Given the description of an element on the screen output the (x, y) to click on. 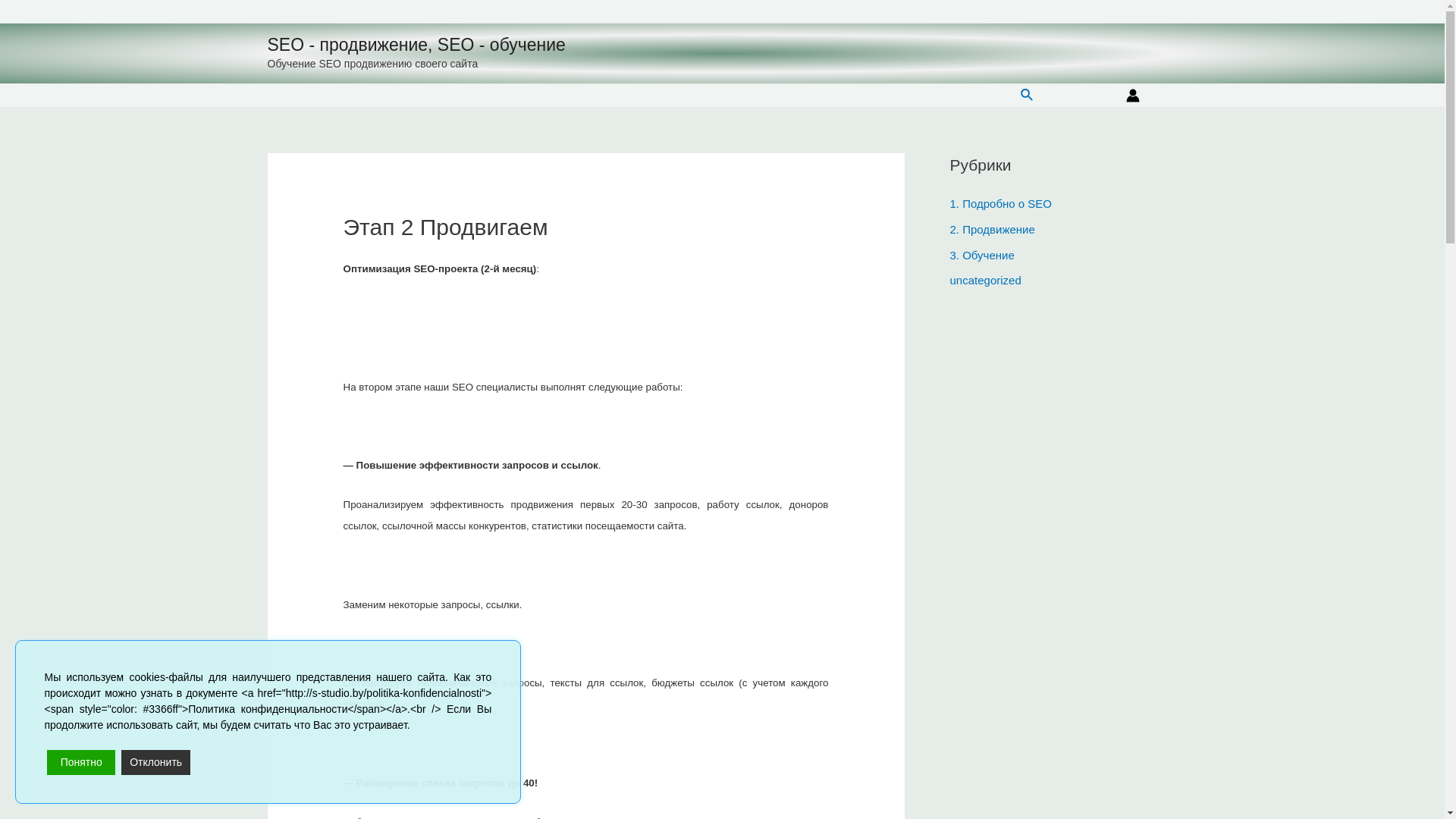
uncategorized Element type: text (984, 279)
